Given the description of an element on the screen output the (x, y) to click on. 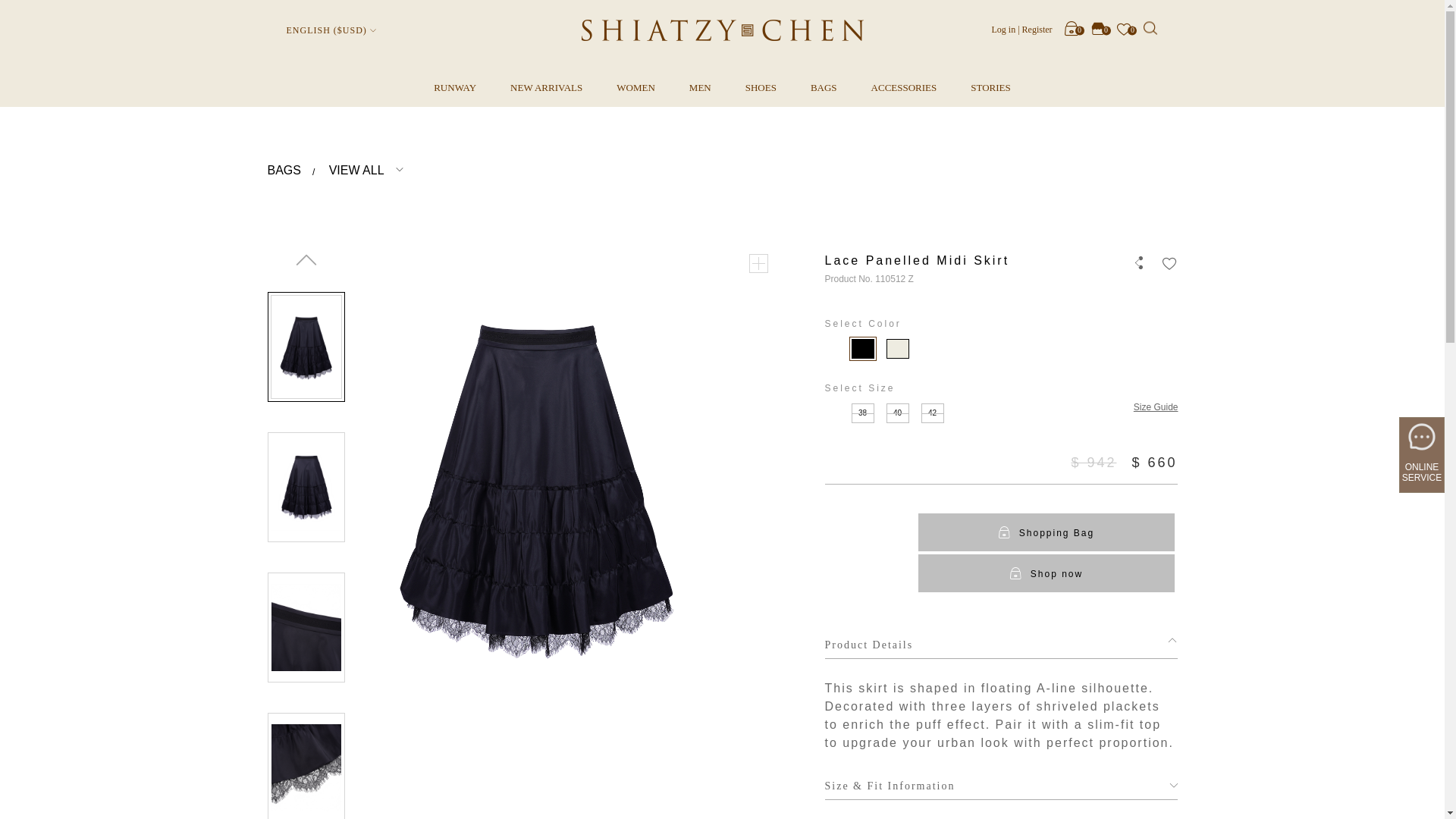
Log in (1003, 28)
NEW ARRIVALS (546, 87)
Register (1037, 28)
RUNWAY (454, 87)
WOMEN (635, 87)
